Given the description of an element on the screen output the (x, y) to click on. 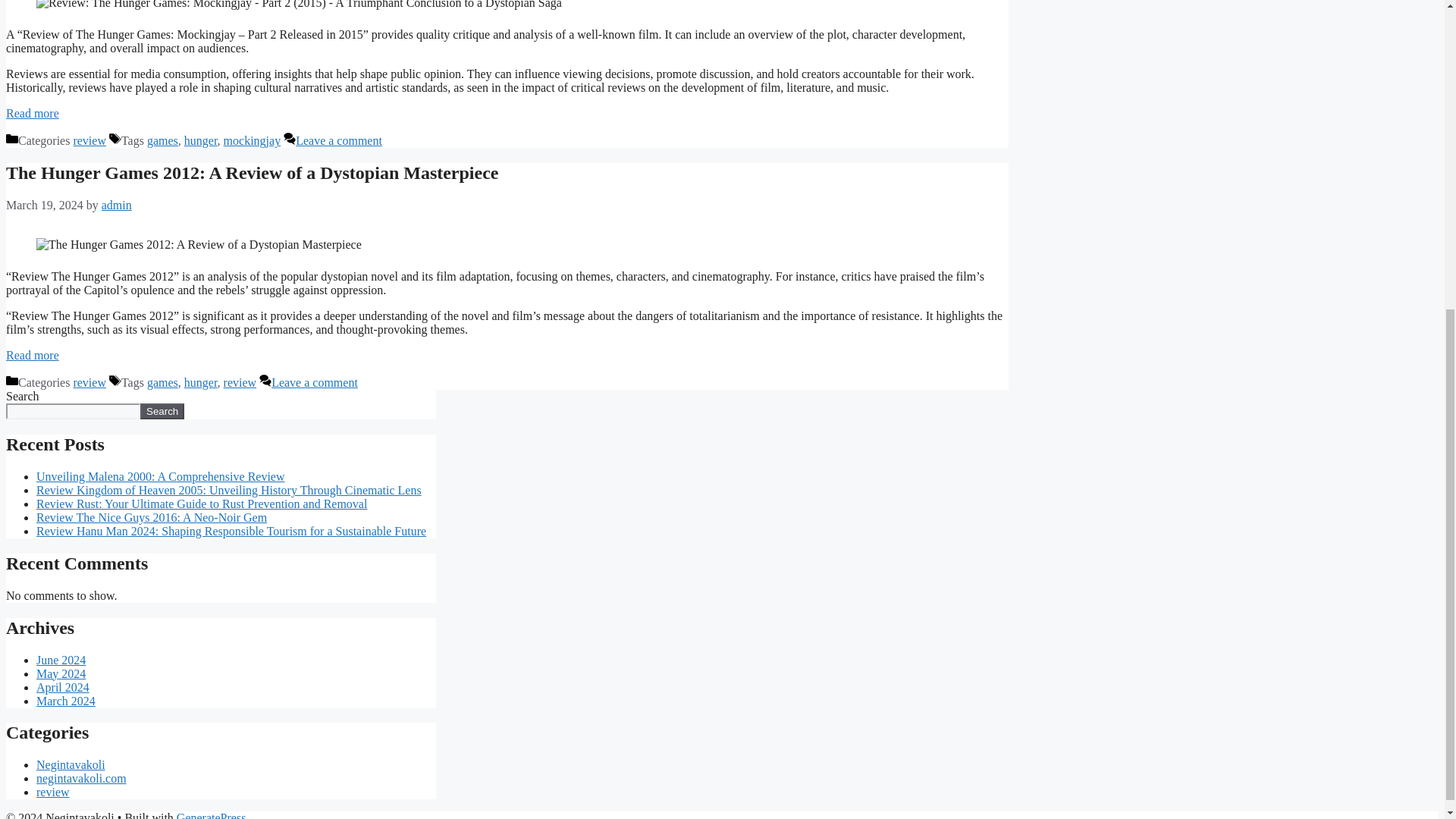
Leave a comment (338, 140)
May 2024 (60, 672)
admin (116, 205)
hunger (200, 140)
mockingjay (252, 140)
games (162, 382)
April 2024 (62, 686)
The Hunger Games 2012: A Review of a Dystopian Masterpiece (252, 172)
review (89, 140)
review (89, 382)
games (162, 140)
Read more (32, 354)
hunger (200, 382)
